Given the description of an element on the screen output the (x, y) to click on. 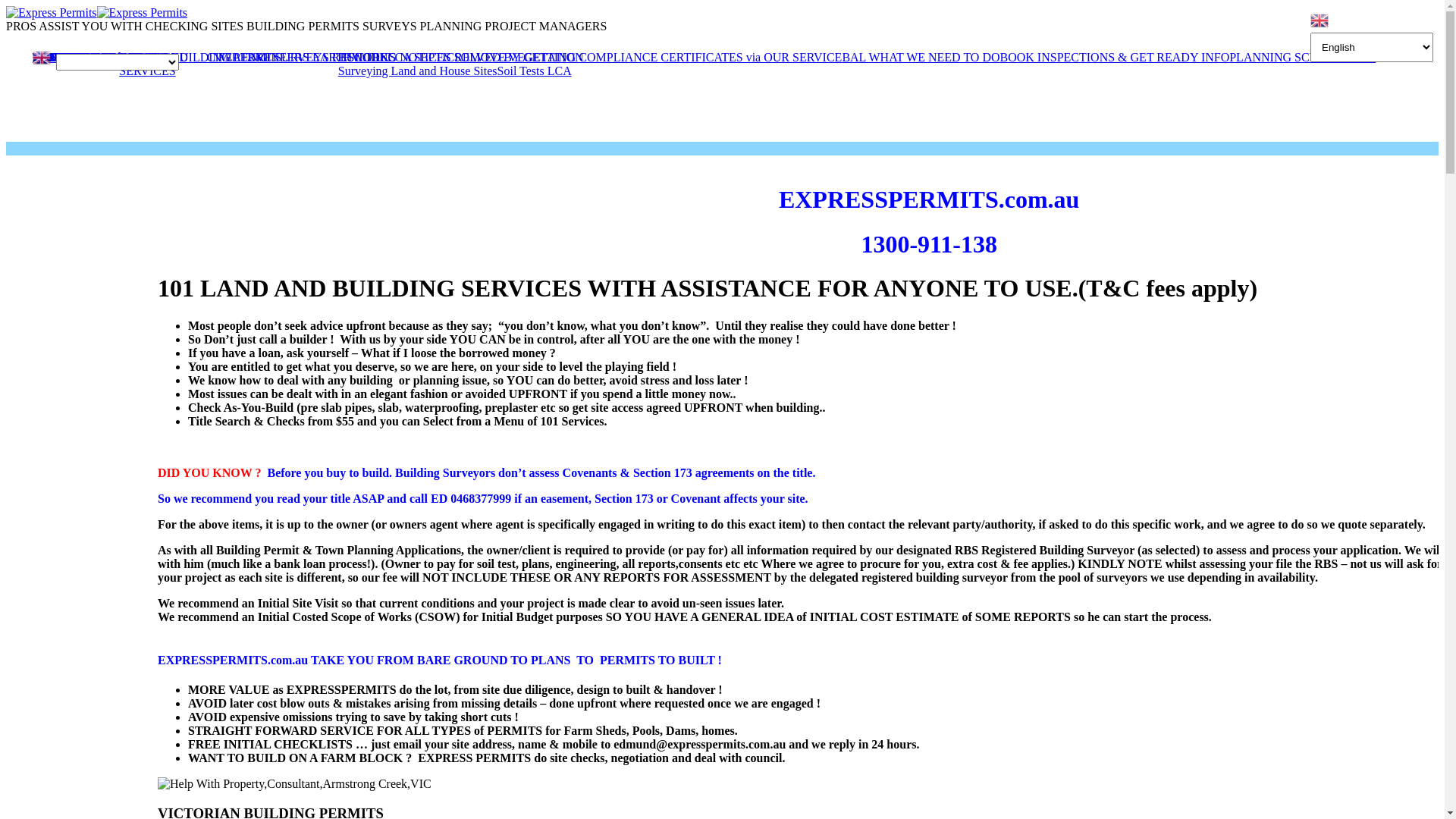
Surveying Land and House Sites Element type: text (417, 71)
PLANNING SCHEMES PDF Element type: text (1302, 57)
English Element type: hover (42, 49)
LCA SEPTIC Element type: text (420, 57)
BOOK INSPECTIONS & GET READY INFO Element type: text (1115, 57)
CIVIL ENGINEERS EARTHWORKS Element type: text (301, 57)
English Element type: hover (1320, 18)
FEATURE SURVEYS RESCODE Element type: text (302, 57)
OUR VIC BUILDING PERMIT SERVICES Element type: text (213, 64)
BAL WHAT WE NEED TO DO Element type: text (920, 57)
Soil Tests LCA Element type: text (534, 71)
REMOVE VEGETATION Element type: text (518, 57)
